Given the description of an element on the screen output the (x, y) to click on. 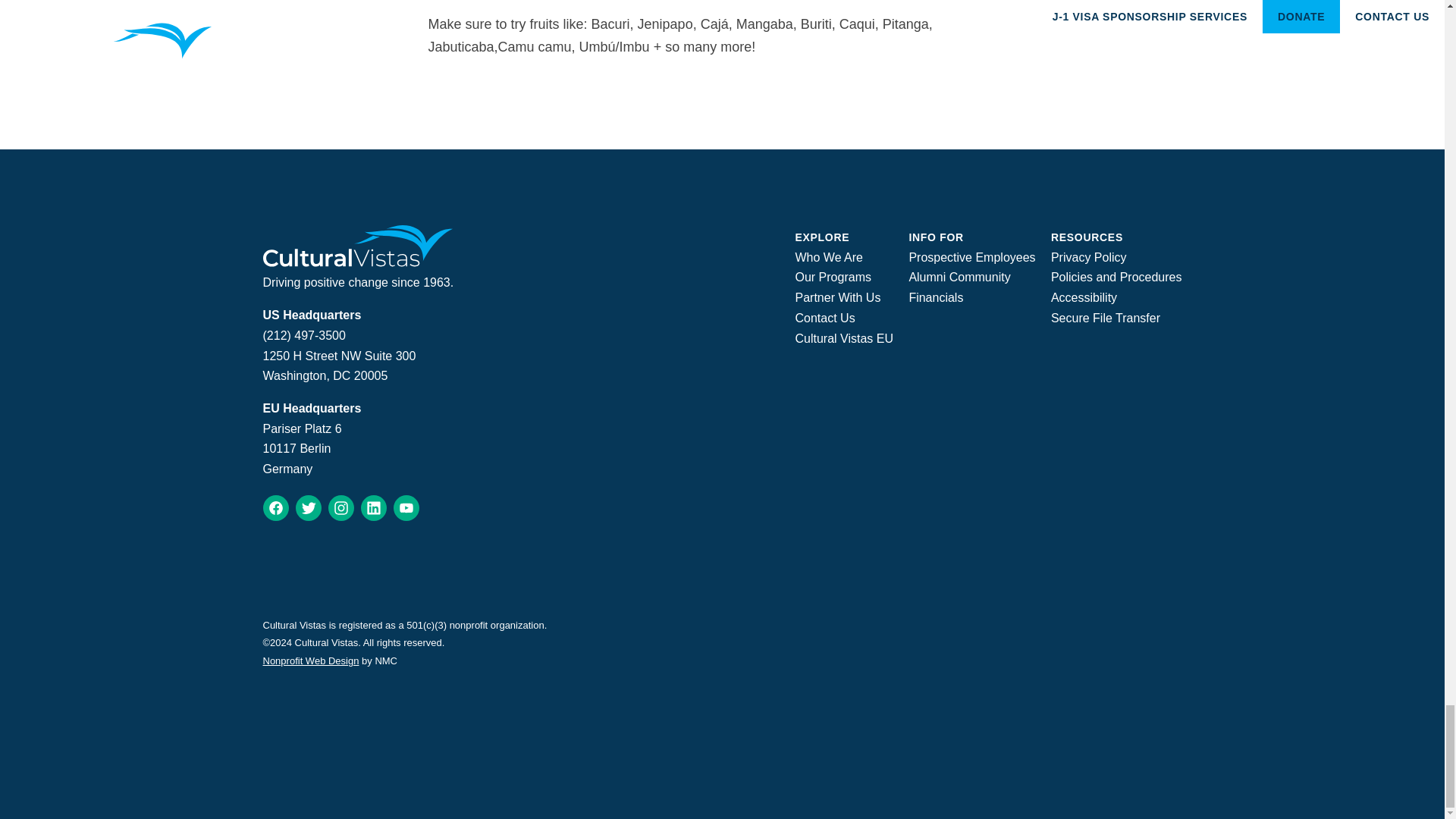
homepage (357, 262)
